Given the description of an element on the screen output the (x, y) to click on. 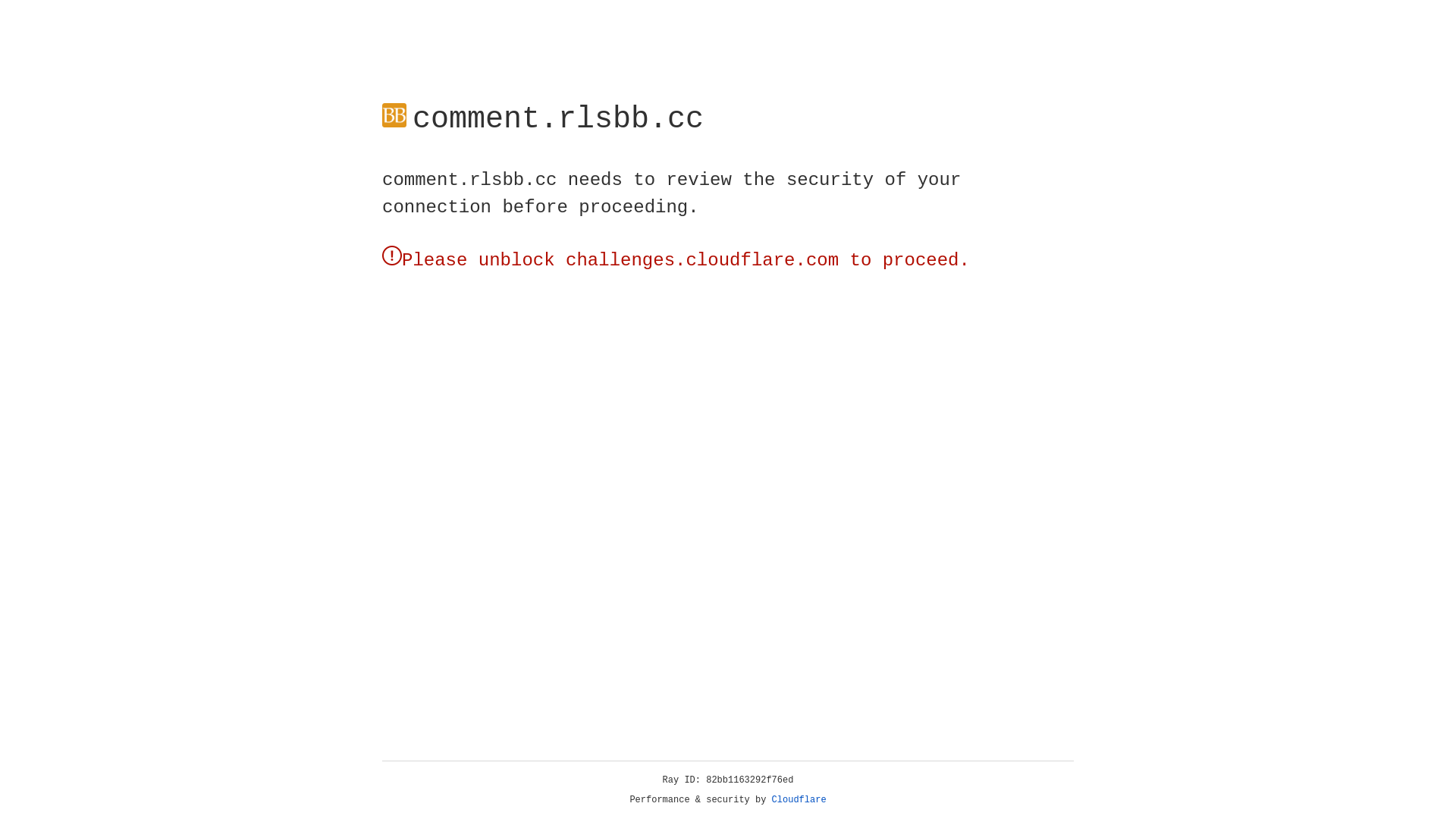
Cloudflare Element type: text (798, 799)
